Given the description of an element on the screen output the (x, y) to click on. 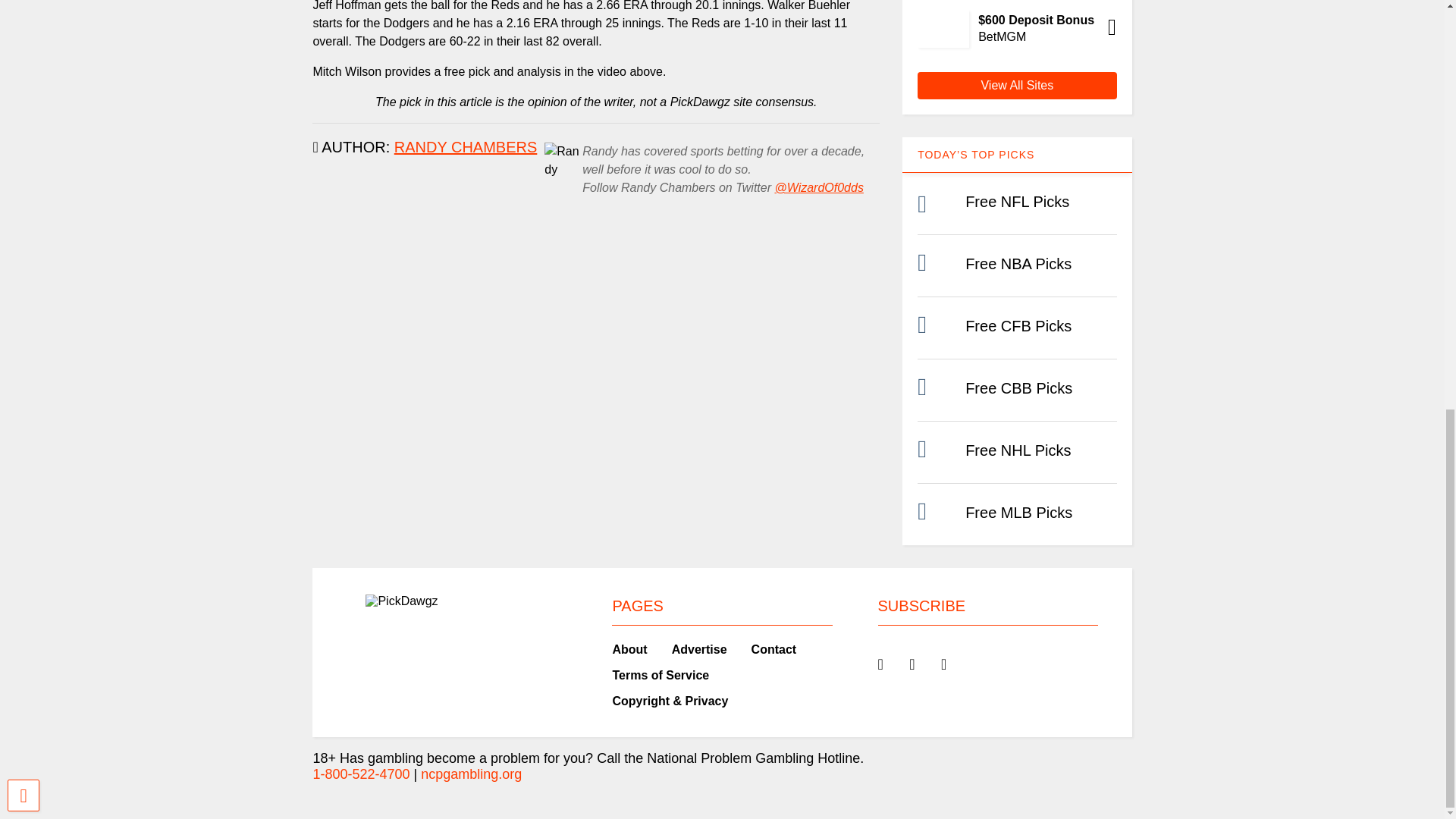
Free NBA Picks (1018, 263)
Free NHL Picks (1017, 450)
Free MLB Picks (1018, 512)
Free NFL Picks (1016, 201)
Free CBB Picks (1018, 388)
Free CFB Picks (1018, 325)
author profile (465, 146)
